Given the description of an element on the screen output the (x, y) to click on. 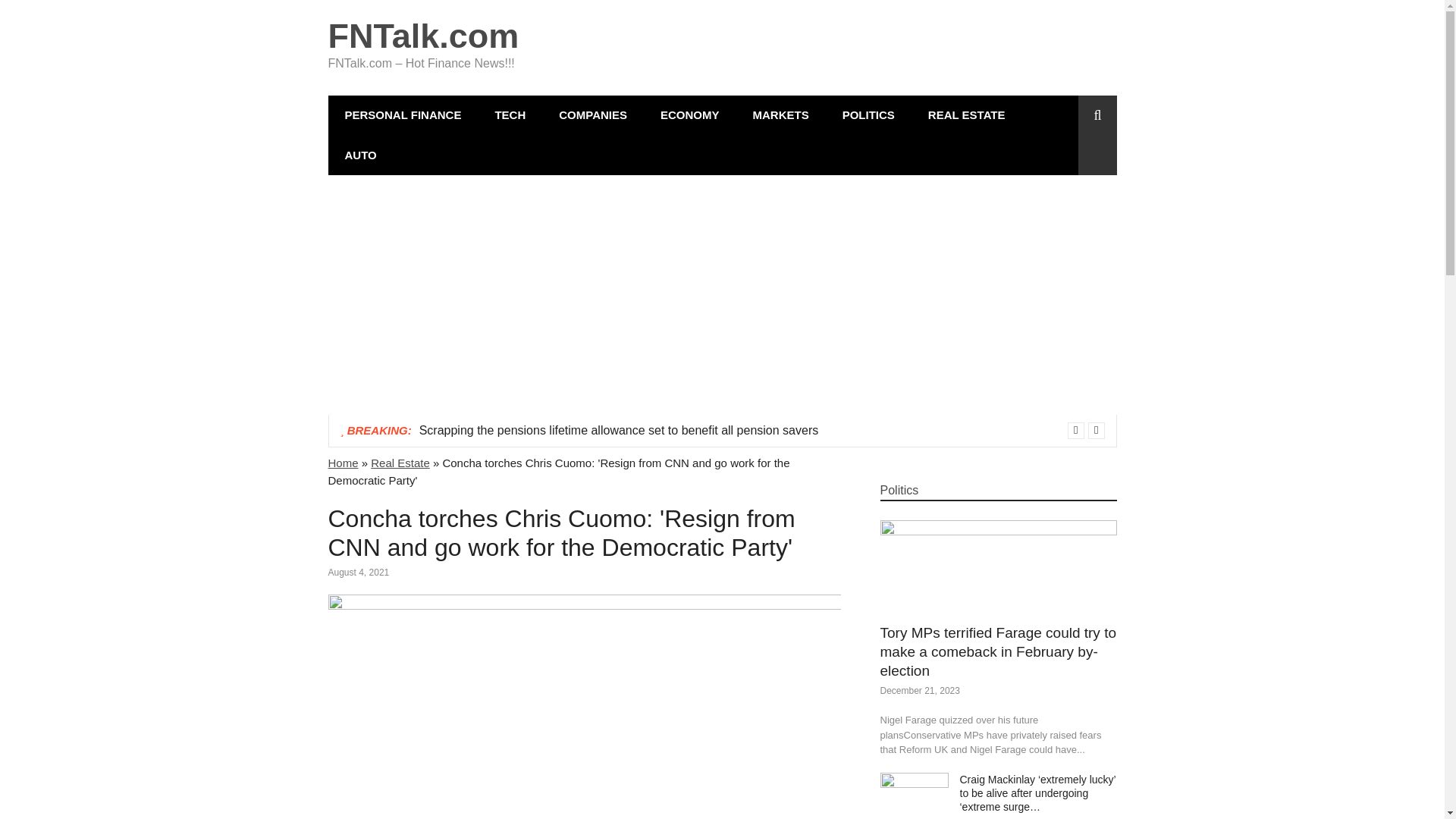
FNTalk.com (422, 35)
POLITICS (868, 115)
PERSONAL FINANCE (402, 115)
ECONOMY (689, 115)
Real Estate (400, 462)
MARKETS (780, 115)
TECH (509, 115)
COMPANIES (592, 115)
